Given the description of an element on the screen output the (x, y) to click on. 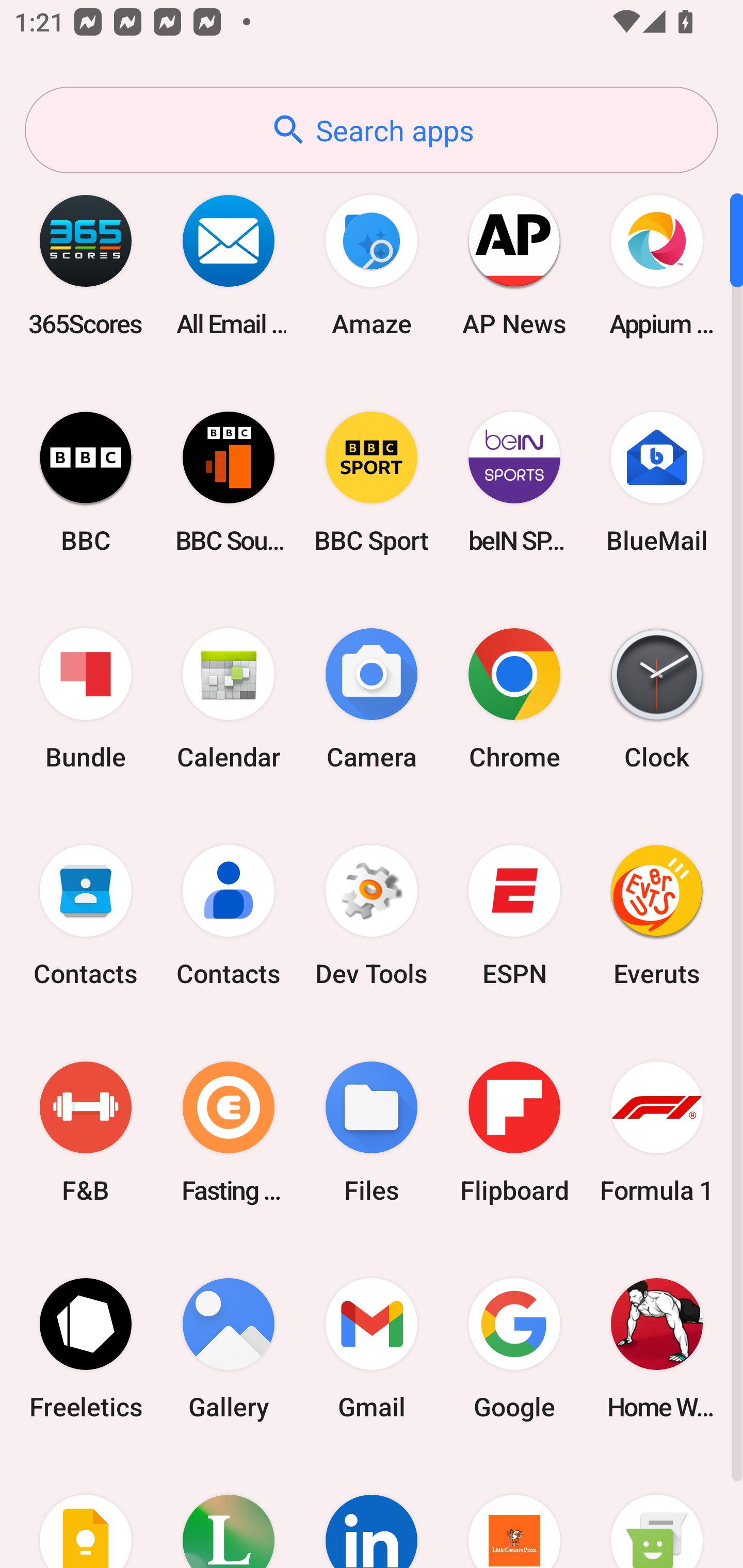
  Search apps (371, 130)
365Scores (85, 264)
All Email Connect (228, 264)
Amaze (371, 264)
AP News (514, 264)
Appium Settings (656, 264)
BBC (85, 482)
BBC Sounds (228, 482)
BBC Sport (371, 482)
beIN SPORTS (514, 482)
BlueMail (656, 482)
Bundle (85, 699)
Calendar (228, 699)
Camera (371, 699)
Chrome (514, 699)
Clock (656, 699)
Contacts (85, 915)
Contacts (228, 915)
Dev Tools (371, 915)
ESPN (514, 915)
Everuts (656, 915)
F&B (85, 1131)
Fasting Coach (228, 1131)
Files (371, 1131)
Flipboard (514, 1131)
Formula 1 (656, 1131)
Freeletics (85, 1348)
Gallery (228, 1348)
Gmail (371, 1348)
Google (514, 1348)
Home Workout (656, 1348)
Keep Notes (85, 1512)
Lifesum (228, 1512)
LinkedIn (371, 1512)
Little Caesars Pizza (514, 1512)
Messaging (656, 1512)
